Given the description of an element on the screen output the (x, y) to click on. 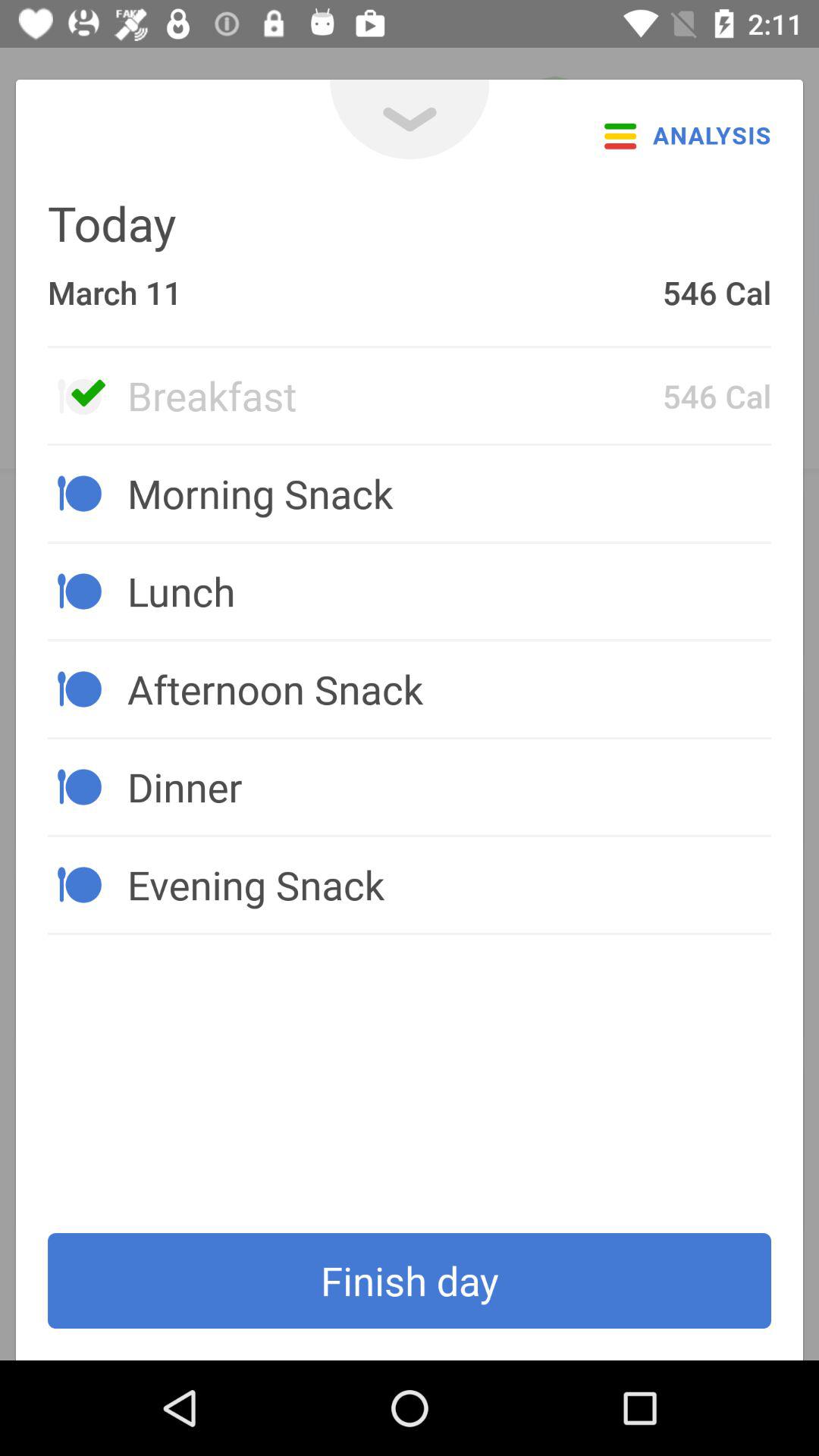
turn off the item below dinner item (449, 884)
